Given the description of an element on the screen output the (x, y) to click on. 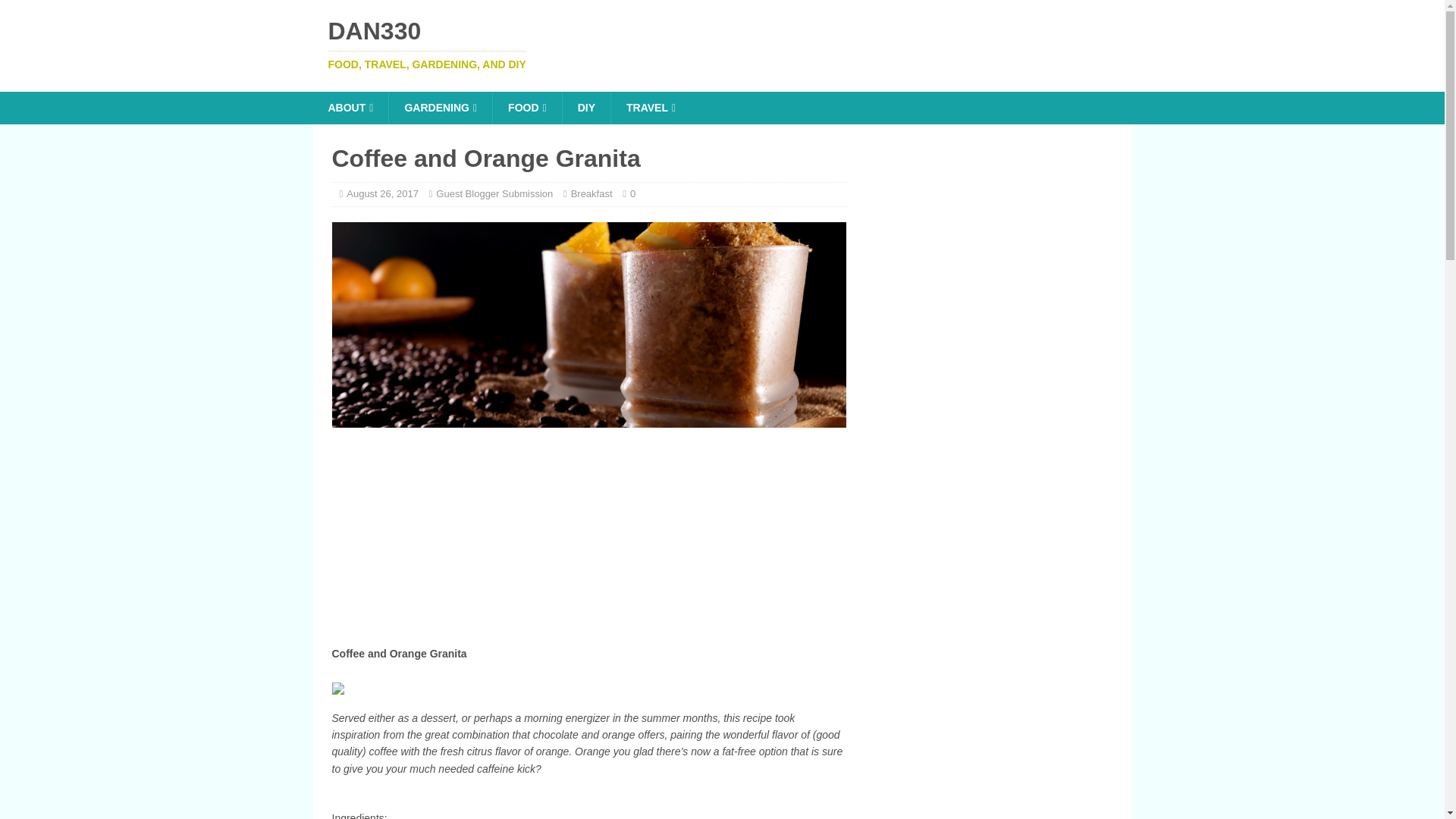
TRAVEL (650, 107)
ABOUT (350, 107)
GARDENING (440, 107)
Coffee-and-Orange-Granita-1920x768 (588, 324)
Guest Blogger Submission (494, 193)
DIY (586, 107)
August 26, 2017 (382, 193)
Dan330 (721, 44)
Breakfast (591, 193)
FOOD (527, 107)
